Given the description of an element on the screen output the (x, y) to click on. 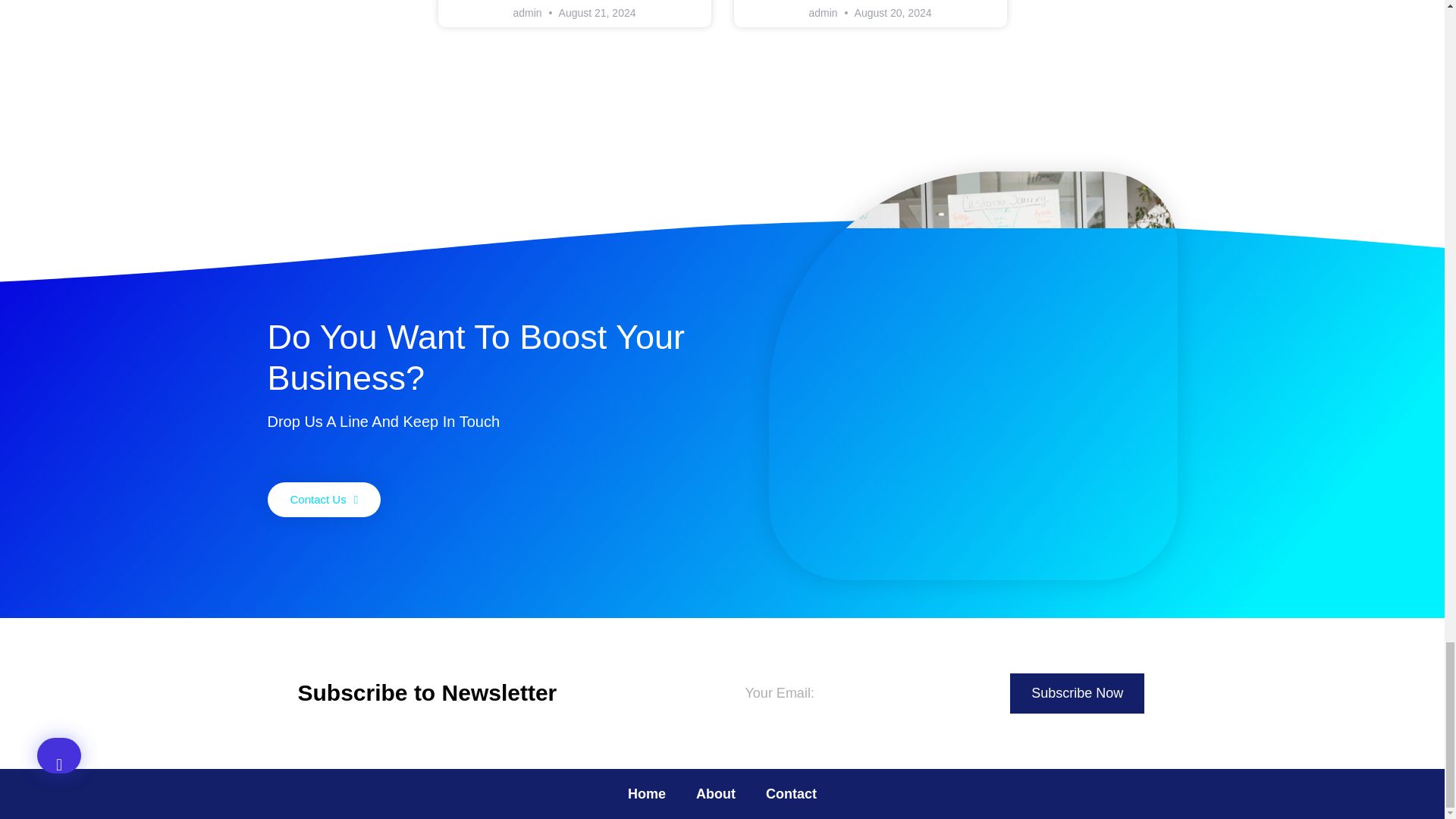
Contact Us (323, 499)
About (716, 793)
Contact (791, 793)
Home (646, 793)
Subscribe Now (1077, 692)
